Given the description of an element on the screen output the (x, y) to click on. 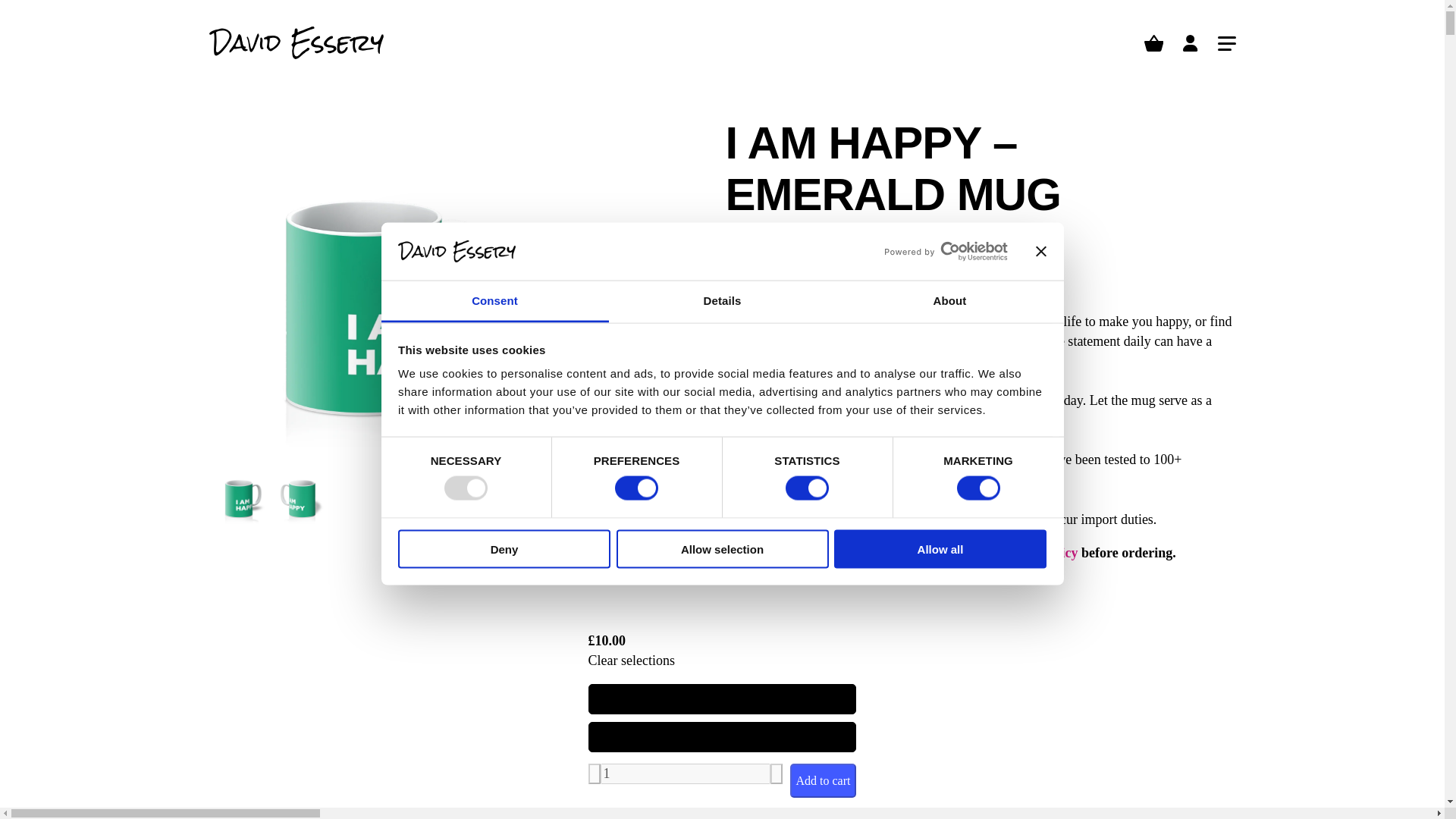
Deny (503, 548)
Details (721, 301)
Consent (494, 301)
Allow selection (721, 548)
1 (684, 773)
About (948, 301)
Allow all (940, 548)
